Given the description of an element on the screen output the (x, y) to click on. 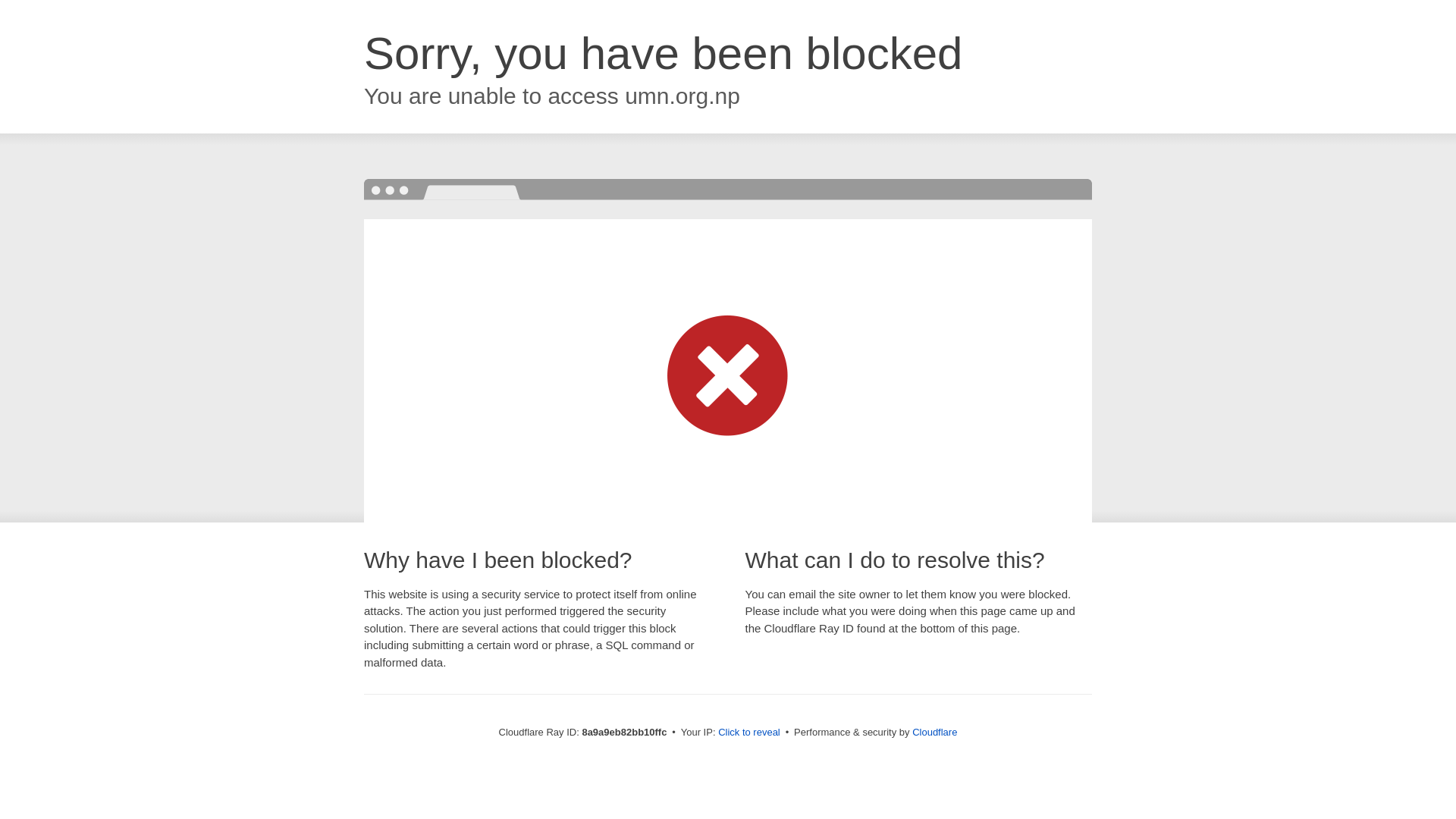
Click to reveal (748, 732)
Cloudflare (934, 731)
